Given the description of an element on the screen output the (x, y) to click on. 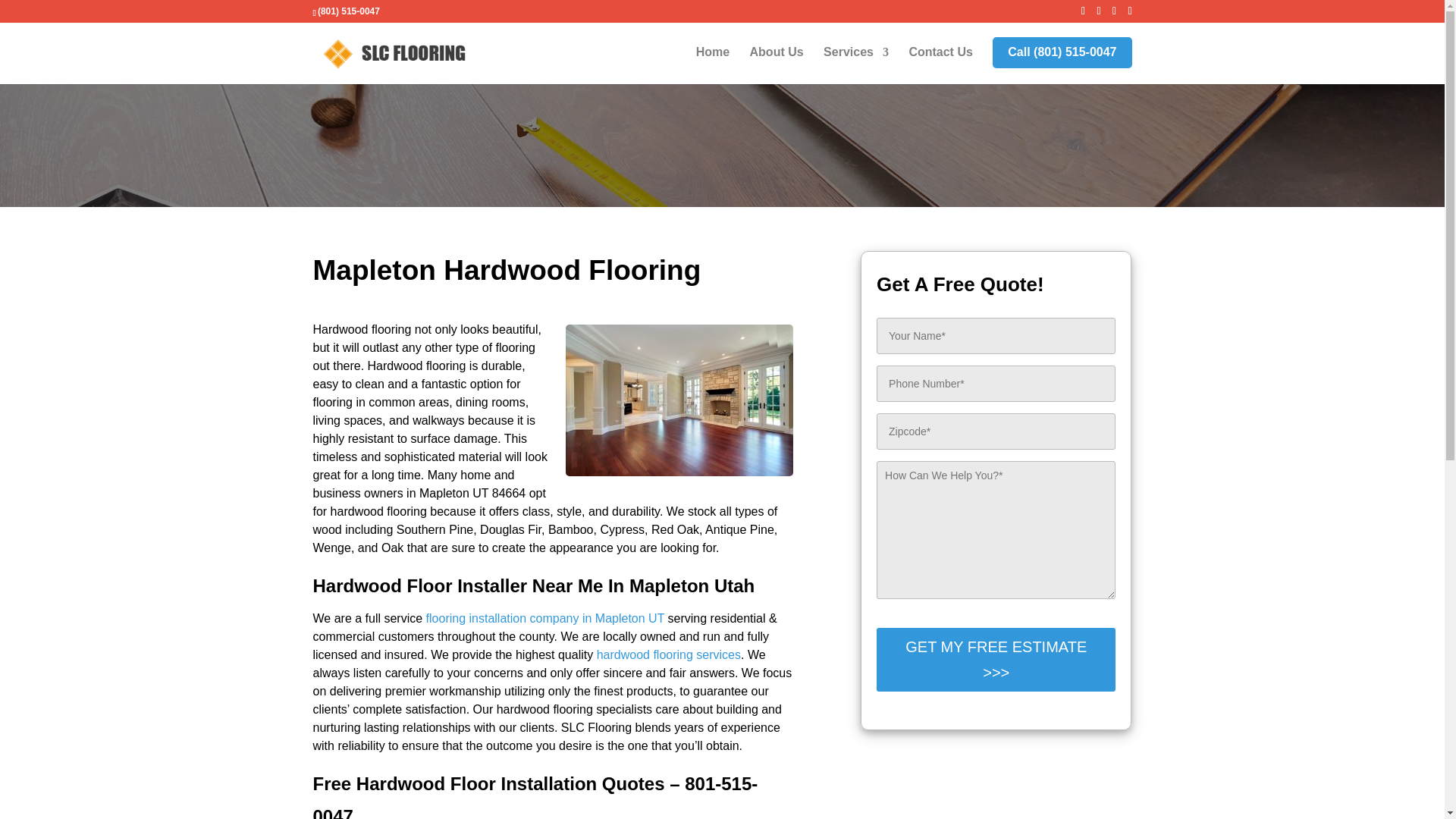
Services (856, 65)
hardwood flooring services (668, 654)
About Us (776, 65)
Home (712, 65)
flooring installation company in Mapleton UT (545, 617)
Contact Us (940, 65)
